Given the description of an element on the screen output the (x, y) to click on. 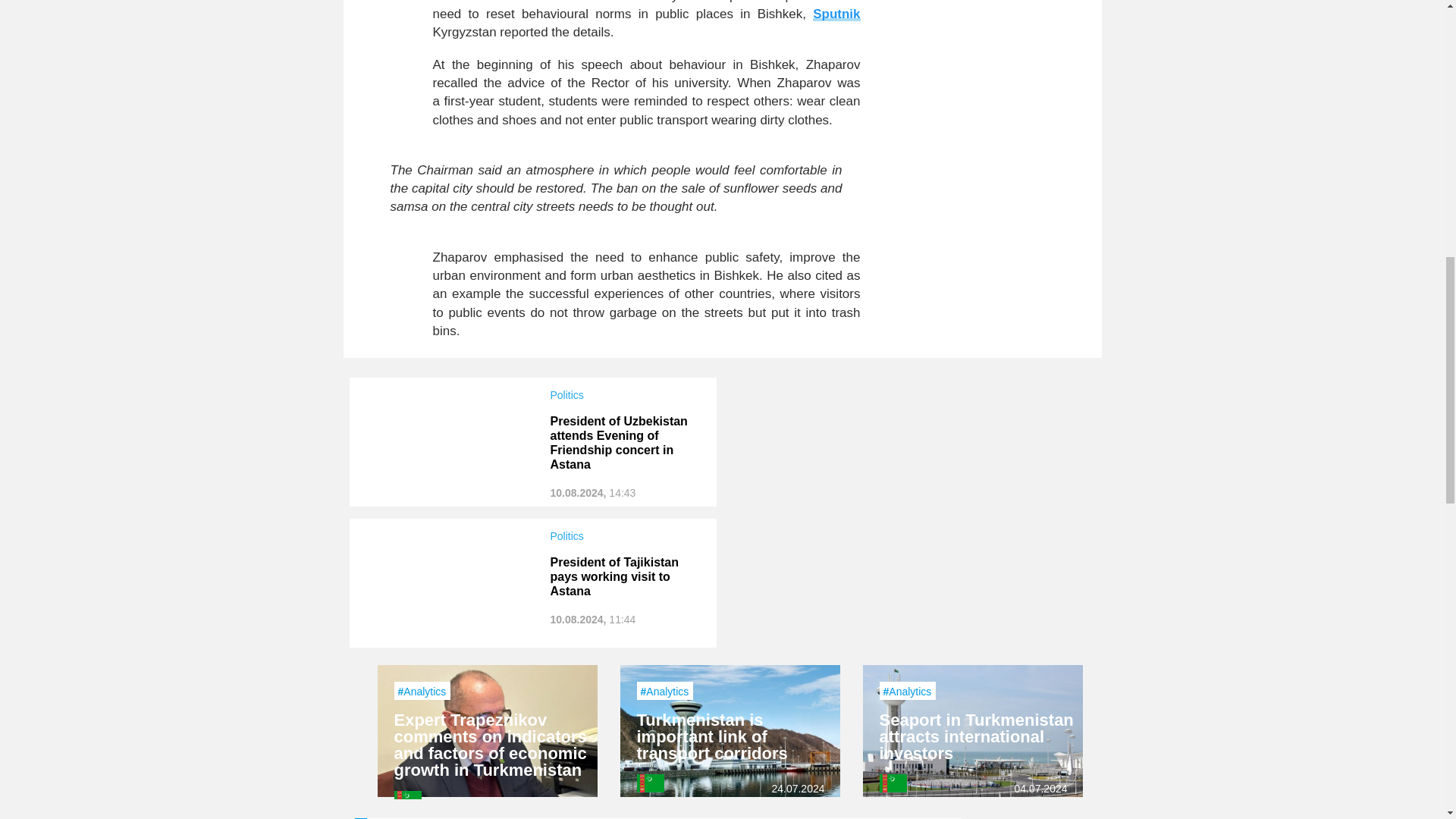
Politics (626, 535)
Politics (626, 395)
Analytics (909, 691)
Seaport in Turkmenistan attracts international investors (976, 736)
Turkmenistan is important link of transport corridors (712, 736)
President of Tajikistan pays working visit to Astana (614, 576)
Analytics (424, 691)
Sputnik (836, 13)
